Given the description of an element on the screen output the (x, y) to click on. 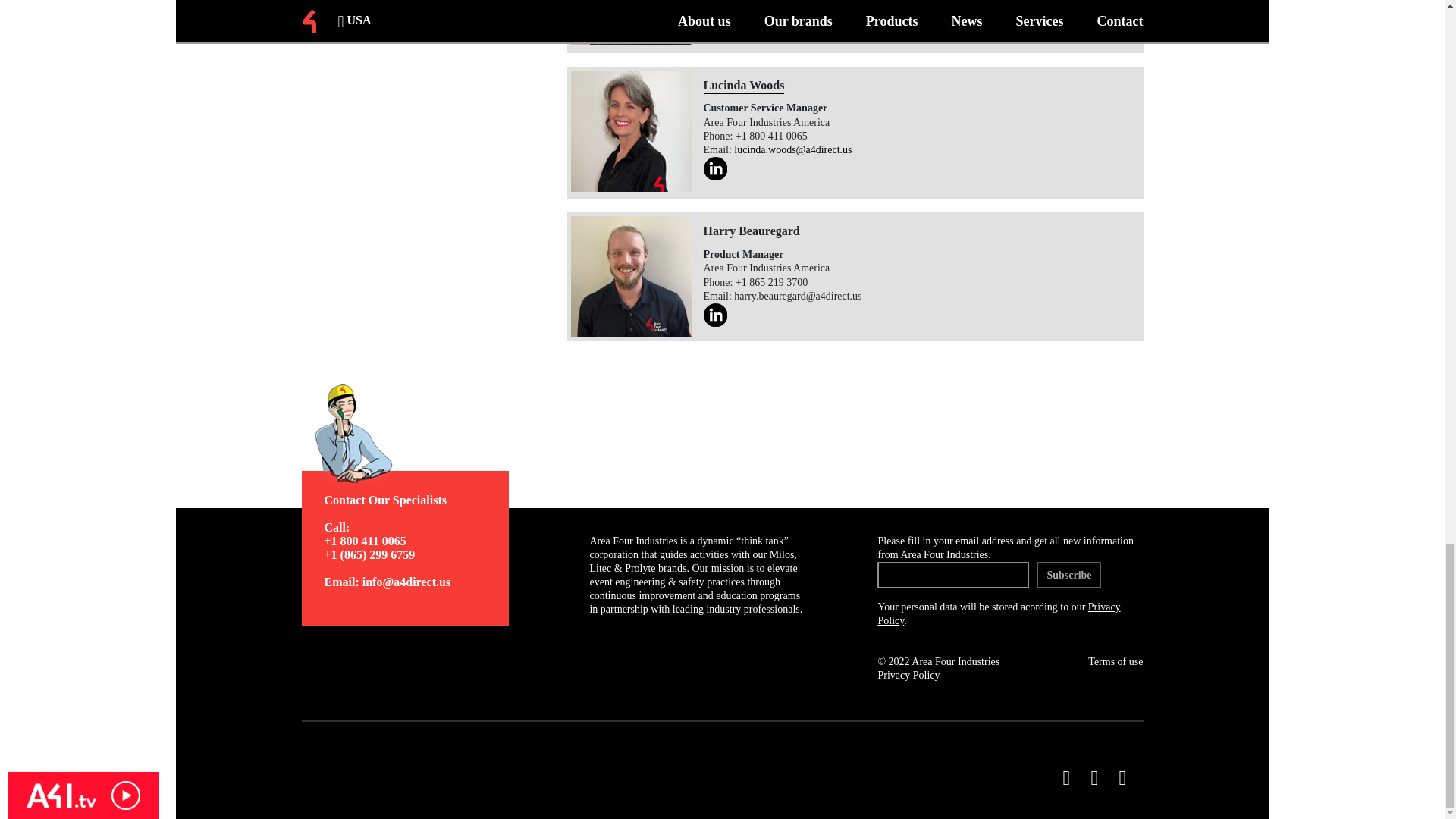
Harry Beauregard  (630, 276)
Lucinda Woods  (630, 130)
Douglas DeBusschere (630, 22)
Our specialist (390, 433)
